Given the description of an element on the screen output the (x, y) to click on. 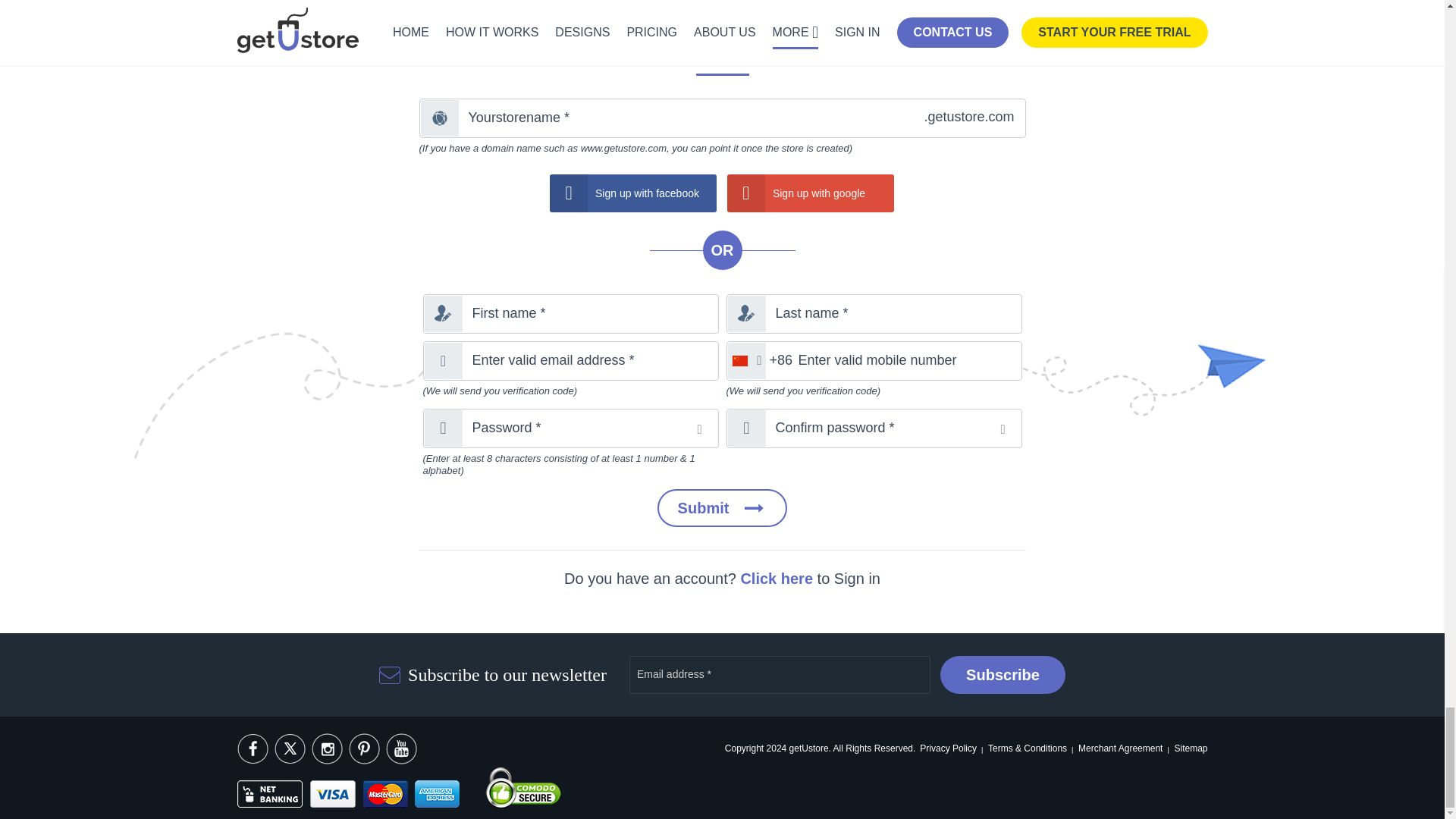
Connect with Facebook (633, 193)
Connect with Google (809, 193)
.getustore.com (722, 118)
Subscribe (1002, 674)
Submit (722, 507)
